Given the description of an element on the screen output the (x, y) to click on. 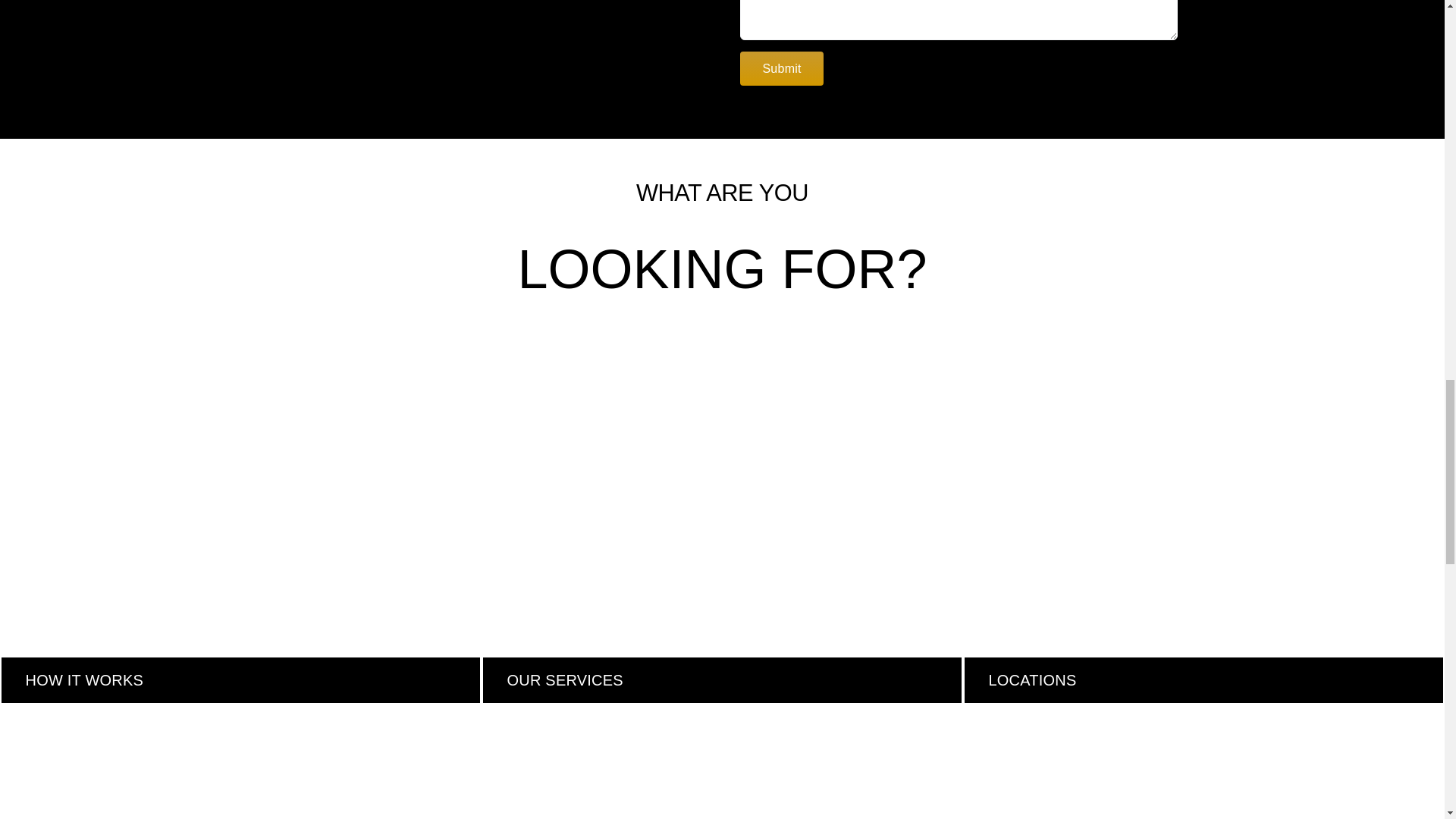
Submit (780, 68)
HSDO-Junk-Pros-brand-logo (484, 39)
Submit (780, 68)
